Given the description of an element on the screen output the (x, y) to click on. 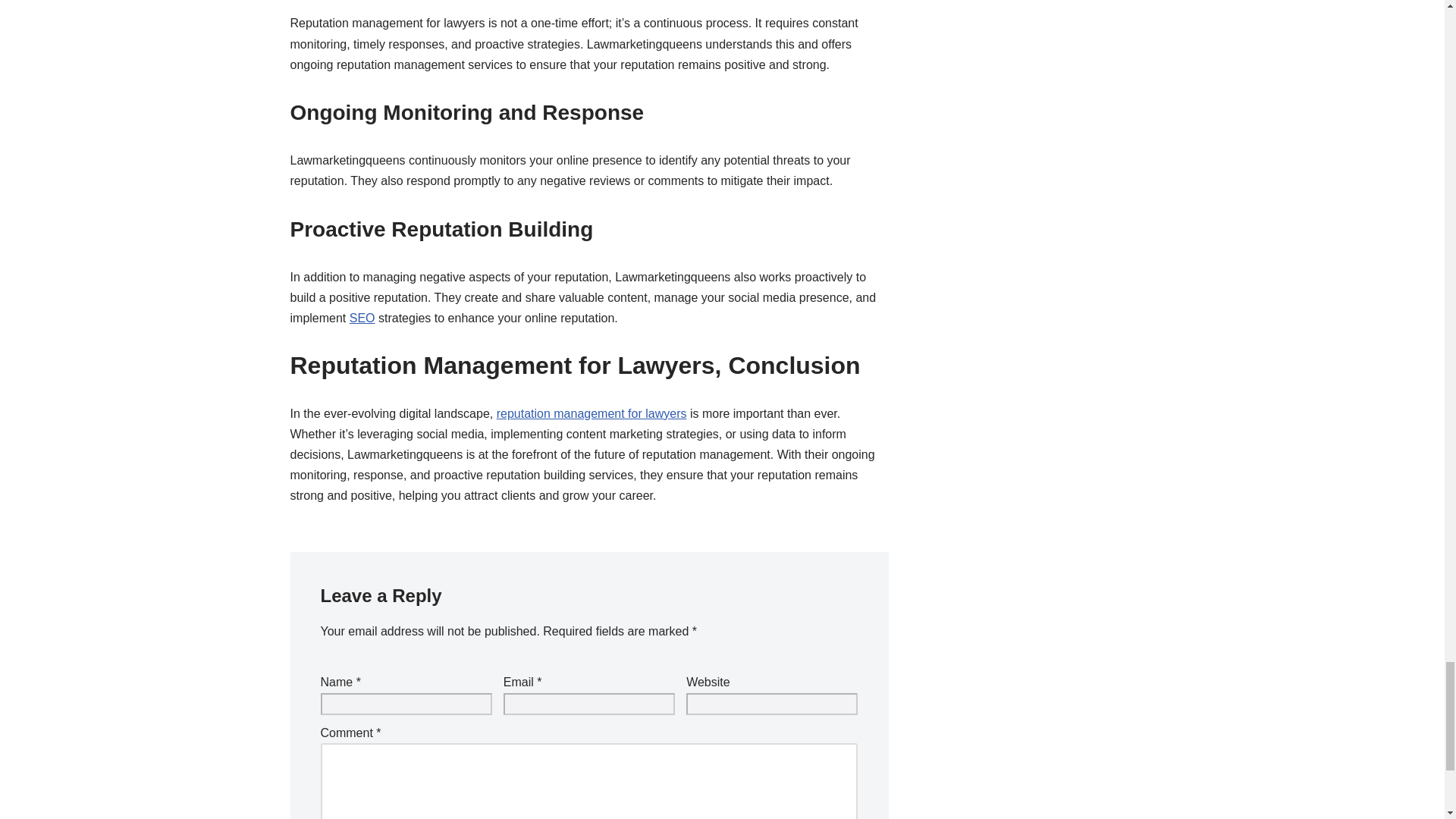
reputation management for lawyers (591, 413)
SEO (362, 318)
